Given the description of an element on the screen output the (x, y) to click on. 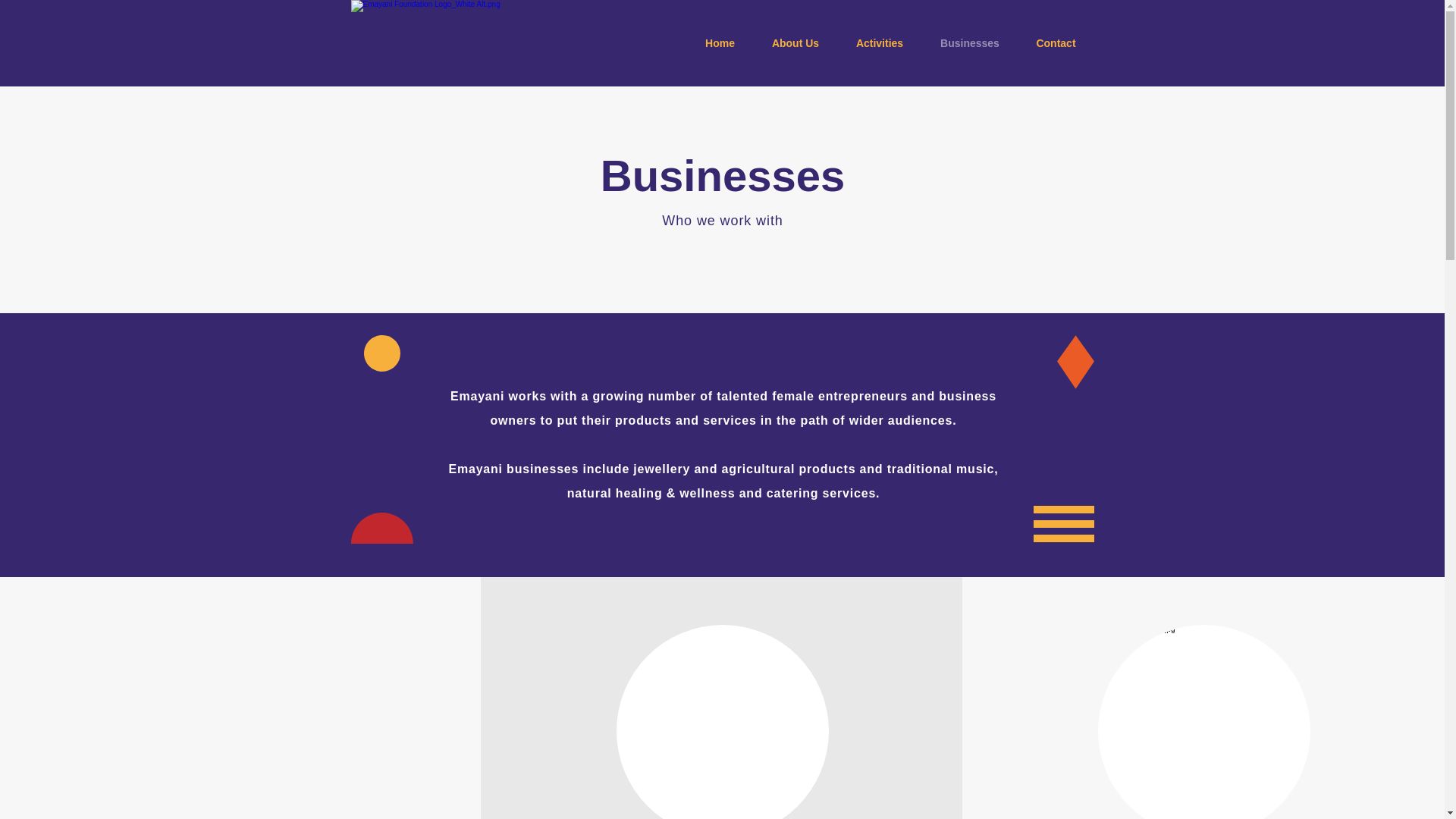
Home (720, 43)
Activities (879, 43)
Businesses (969, 43)
About Us (796, 43)
Contact (1055, 43)
